Given the description of an element on the screen output the (x, y) to click on. 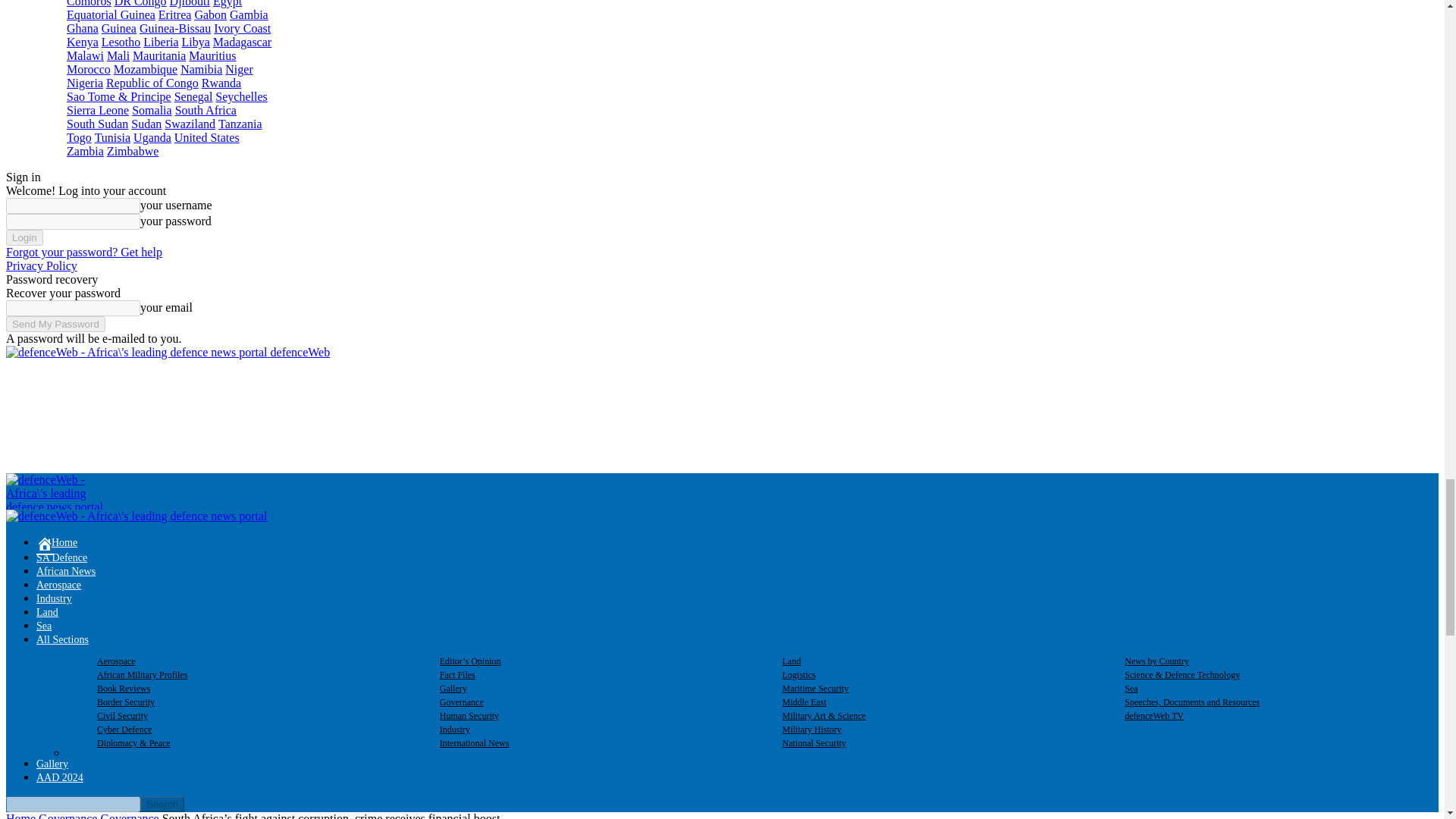
Send My Password (54, 324)
Search (161, 804)
Login (24, 237)
